Given the description of an element on the screen output the (x, y) to click on. 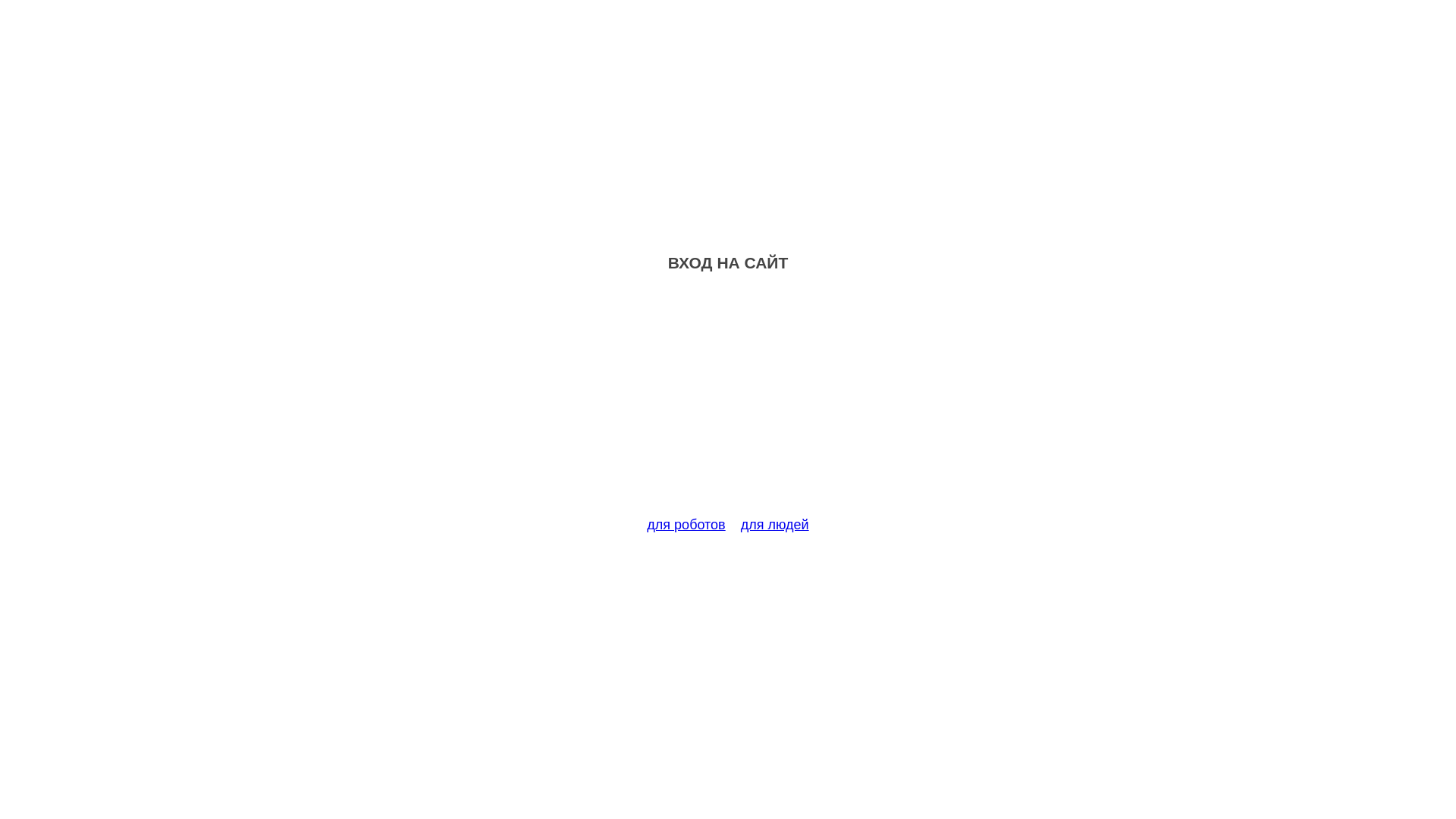
Advertisement Element type: hover (727, 403)
